Given the description of an element on the screen output the (x, y) to click on. 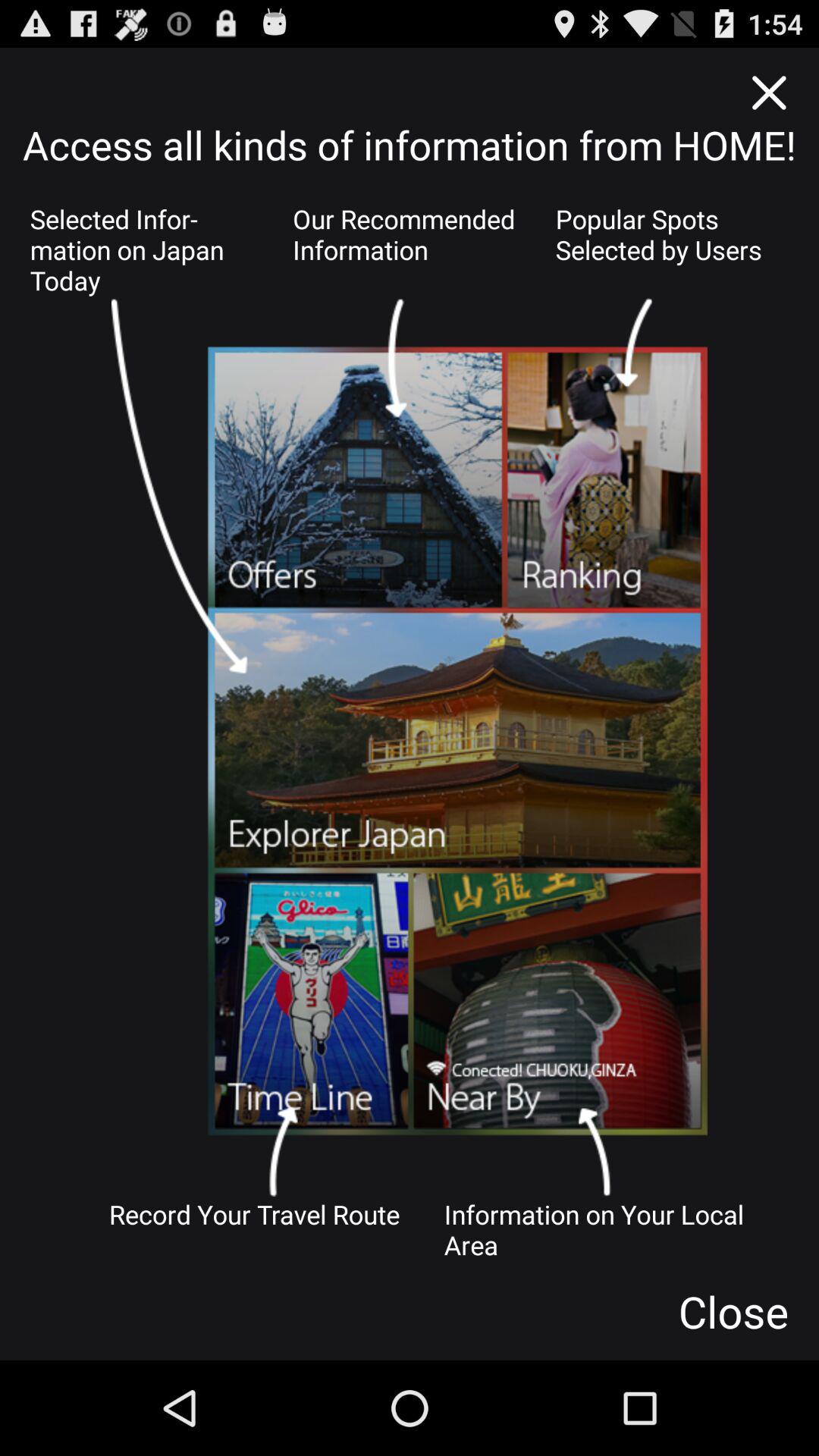
turn off the close (733, 1311)
